Given the description of an element on the screen output the (x, y) to click on. 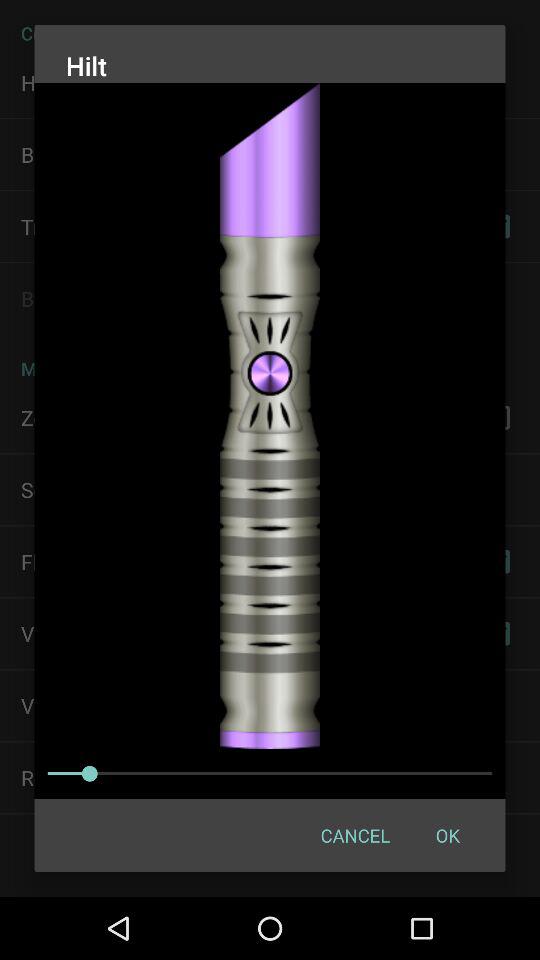
turn off button next to cancel icon (447, 834)
